Given the description of an element on the screen output the (x, y) to click on. 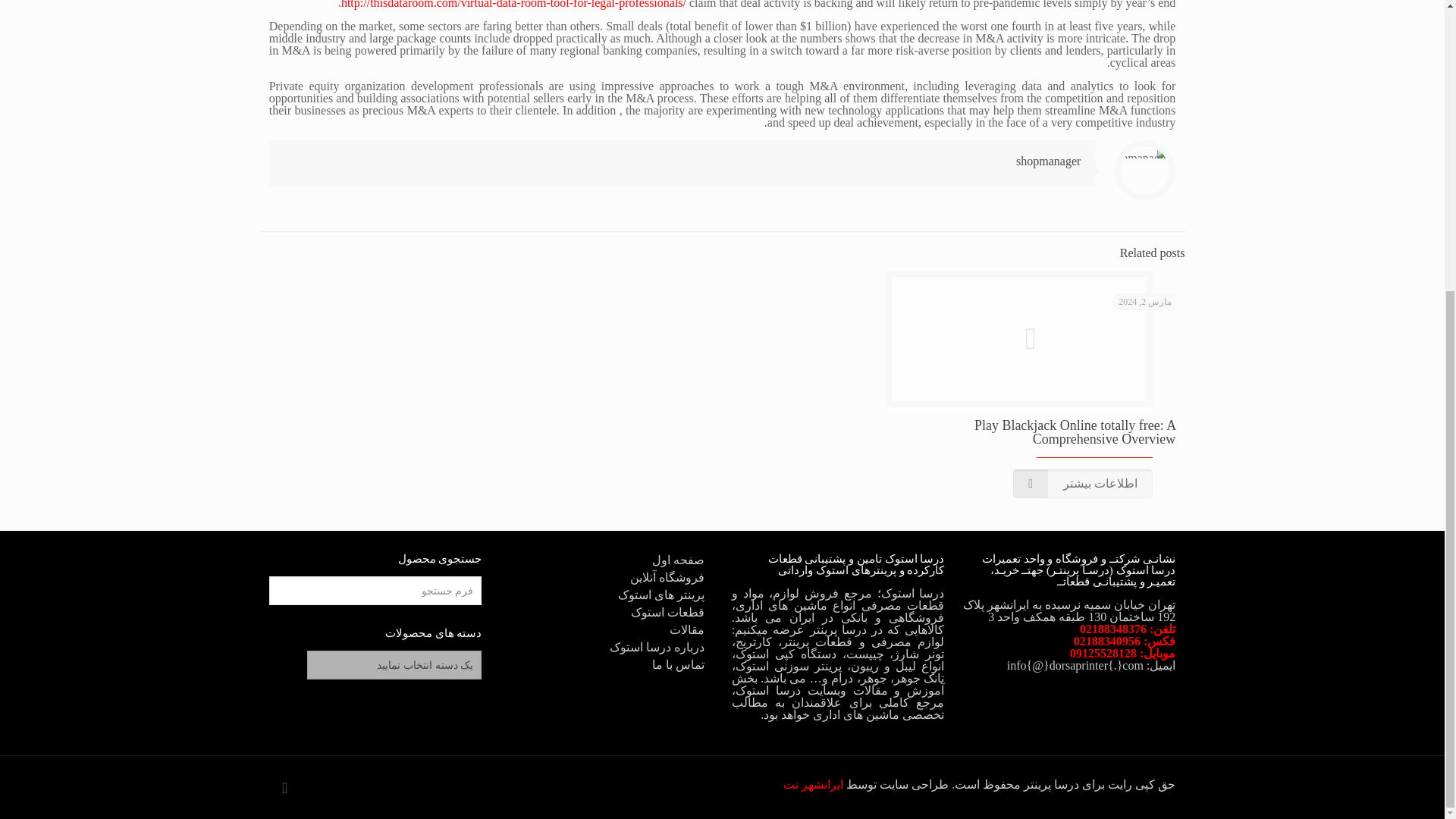
Play Blackjack Online totally free: A Comprehensive Overview (1074, 431)
shopmanager (1048, 160)
